Given the description of an element on the screen output the (x, y) to click on. 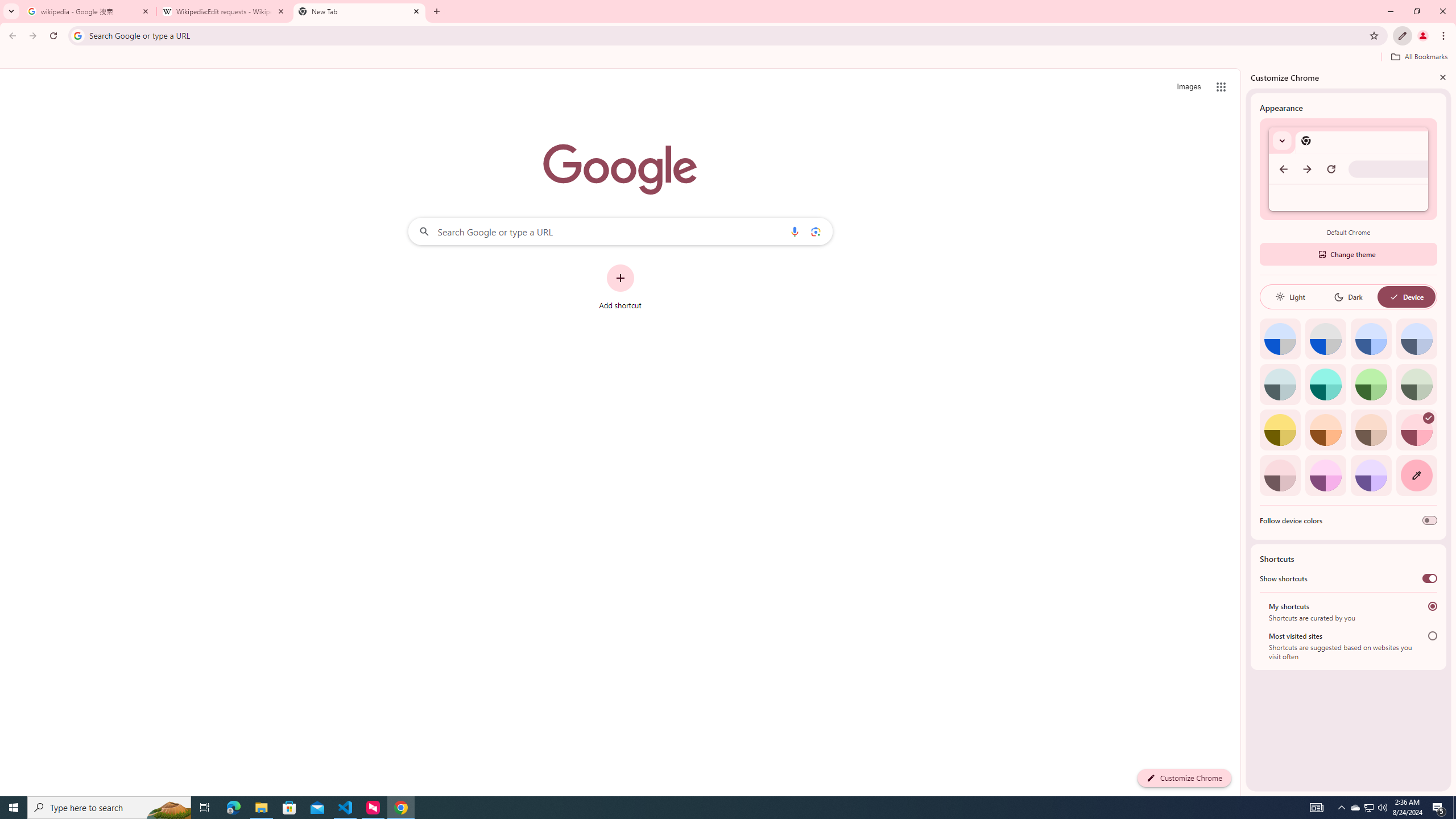
My shortcuts (1432, 605)
Change theme (1348, 254)
Wikipedia:Edit requests - Wikipedia (224, 11)
Side Panel Resize Handle (1242, 431)
Search Google or type a URL (619, 230)
Violet (1371, 475)
Apricot (1371, 429)
AutomationID: baseSvg (1394, 296)
Green (1371, 383)
New Tab (359, 11)
